Given the description of an element on the screen output the (x, y) to click on. 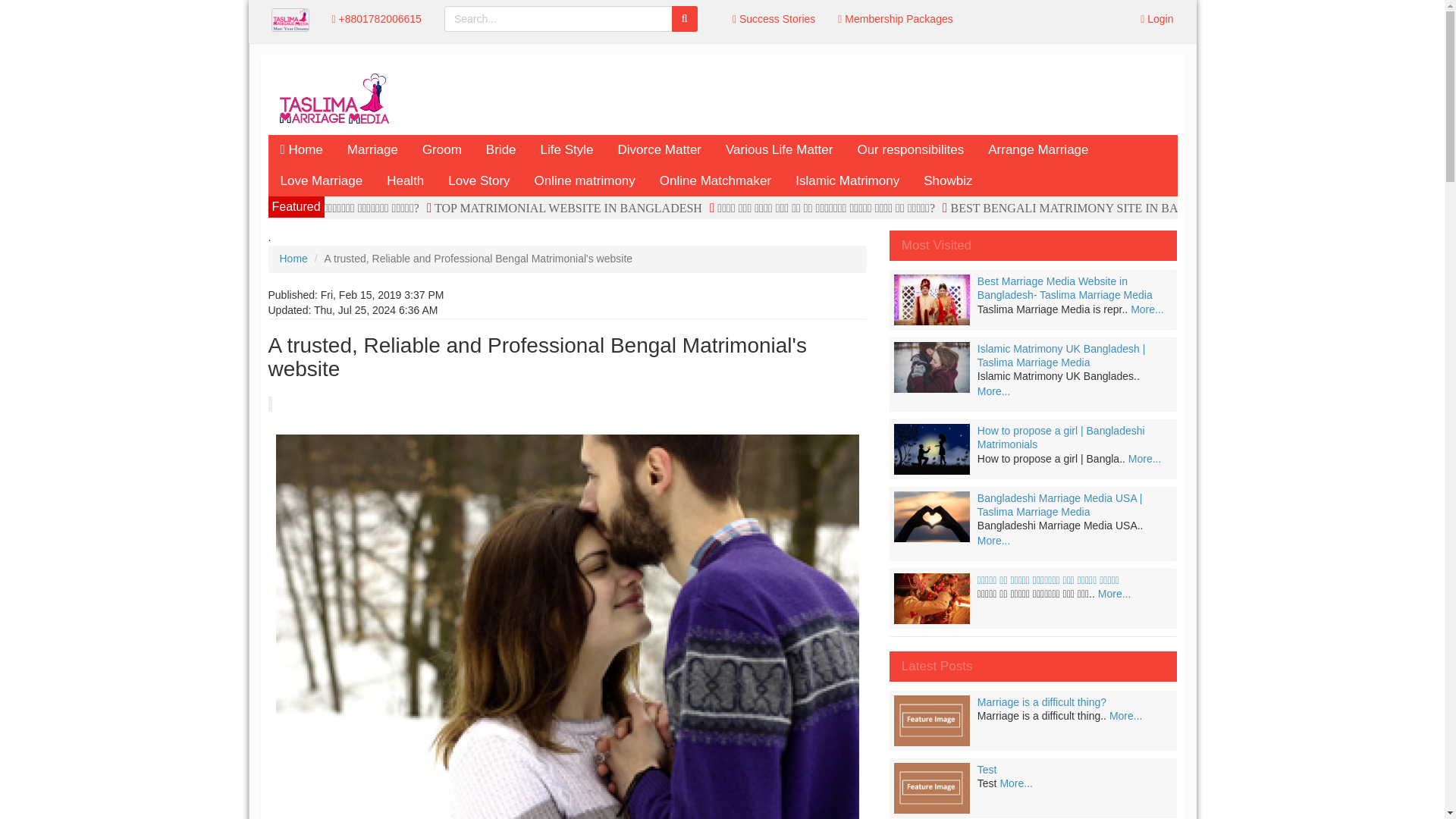
Divorce Matter (659, 150)
Health (404, 181)
Online Matchmaker (715, 181)
Marriage (372, 150)
Advertisement (790, 96)
Our responsibilites (909, 150)
Showbiz (947, 181)
Various Life Matter (778, 150)
Bride (501, 150)
Arrange Marriage (1037, 150)
Islamic Matrimony (847, 181)
Membership Packages (895, 18)
Love Marriage (321, 181)
Home (300, 150)
Life Style (566, 150)
